Given the description of an element on the screen output the (x, y) to click on. 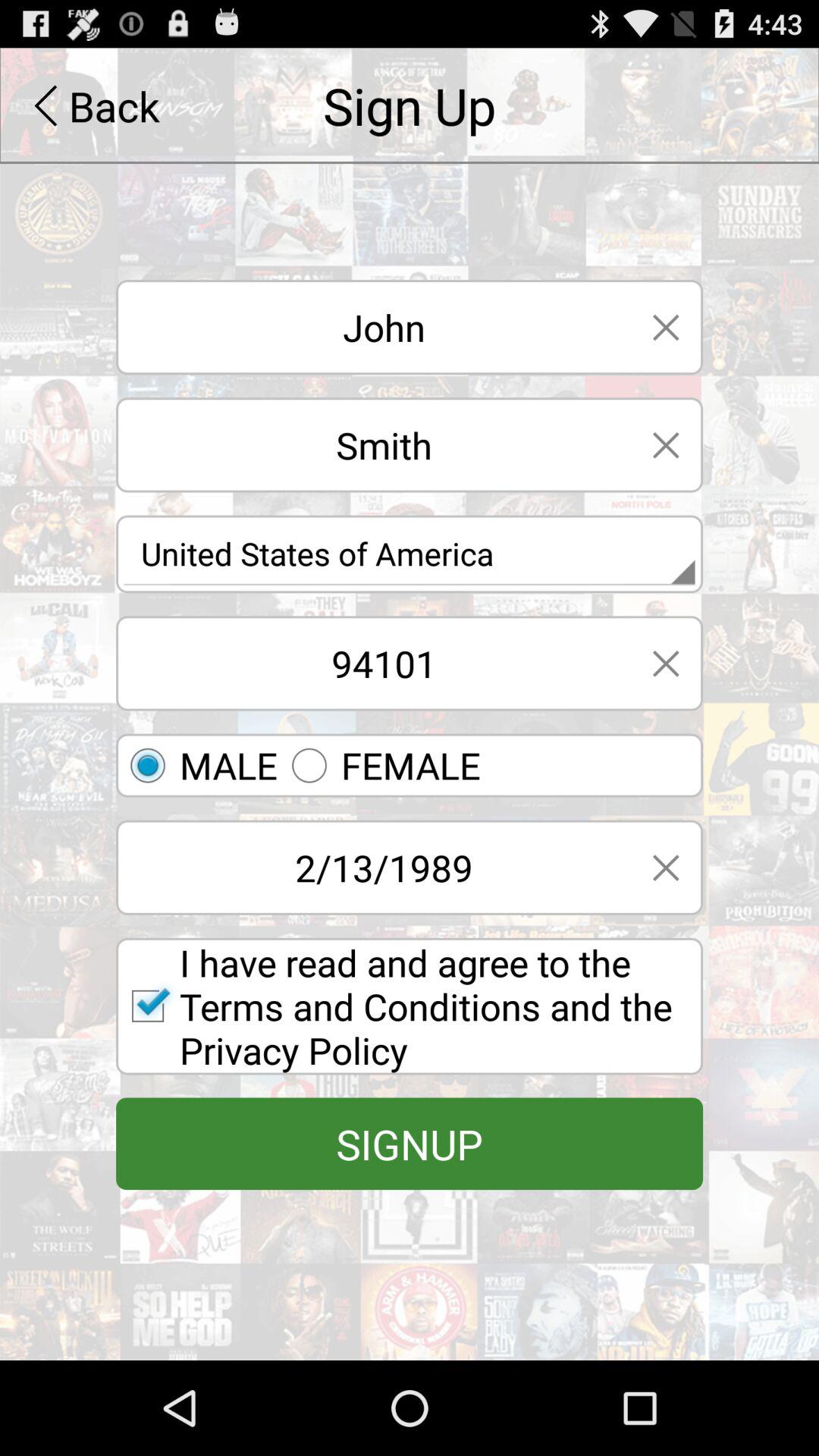
cancle (665, 327)
